Given the description of an element on the screen output the (x, y) to click on. 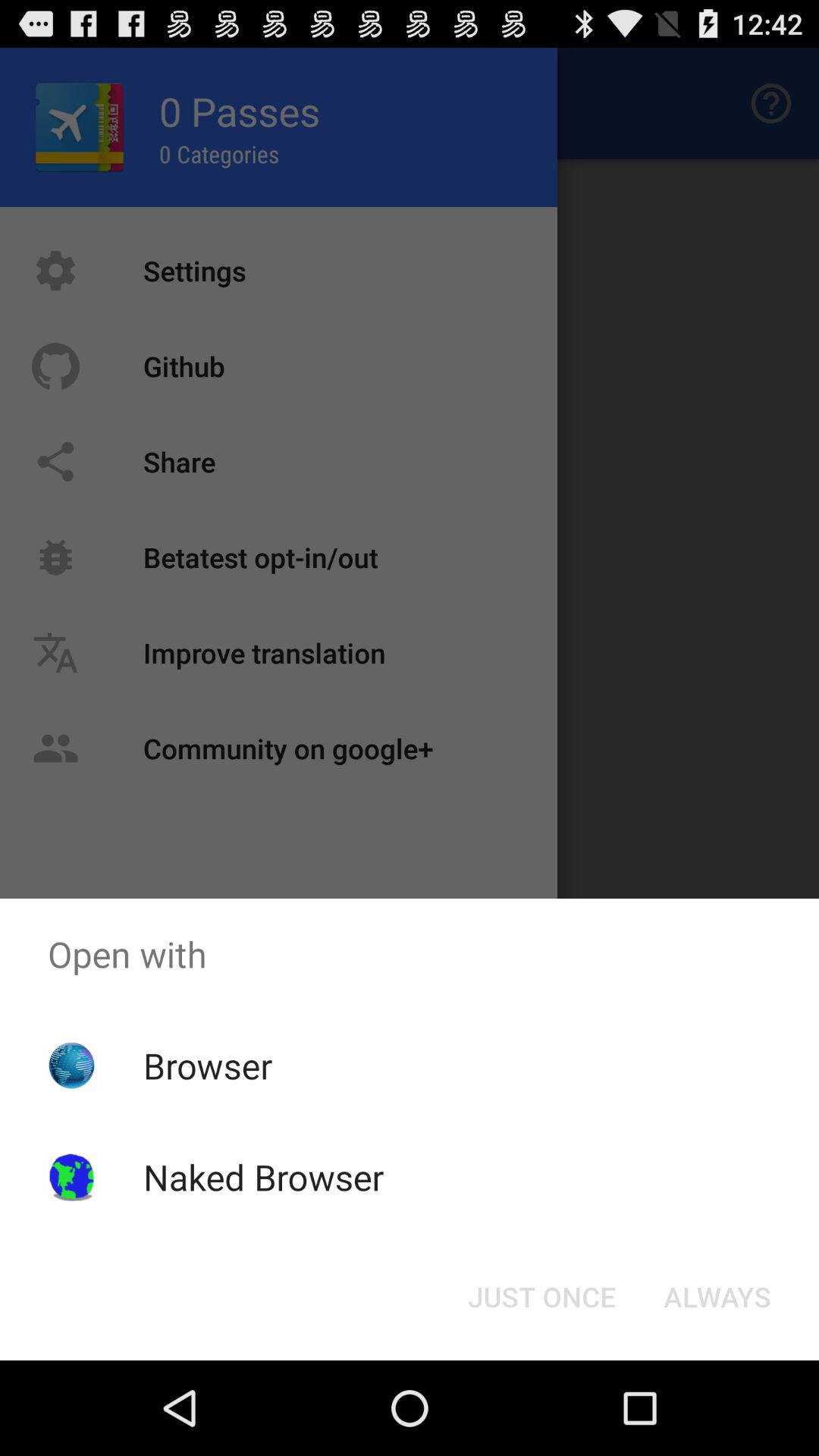
scroll to the naked browser app (263, 1176)
